Given the description of an element on the screen output the (x, y) to click on. 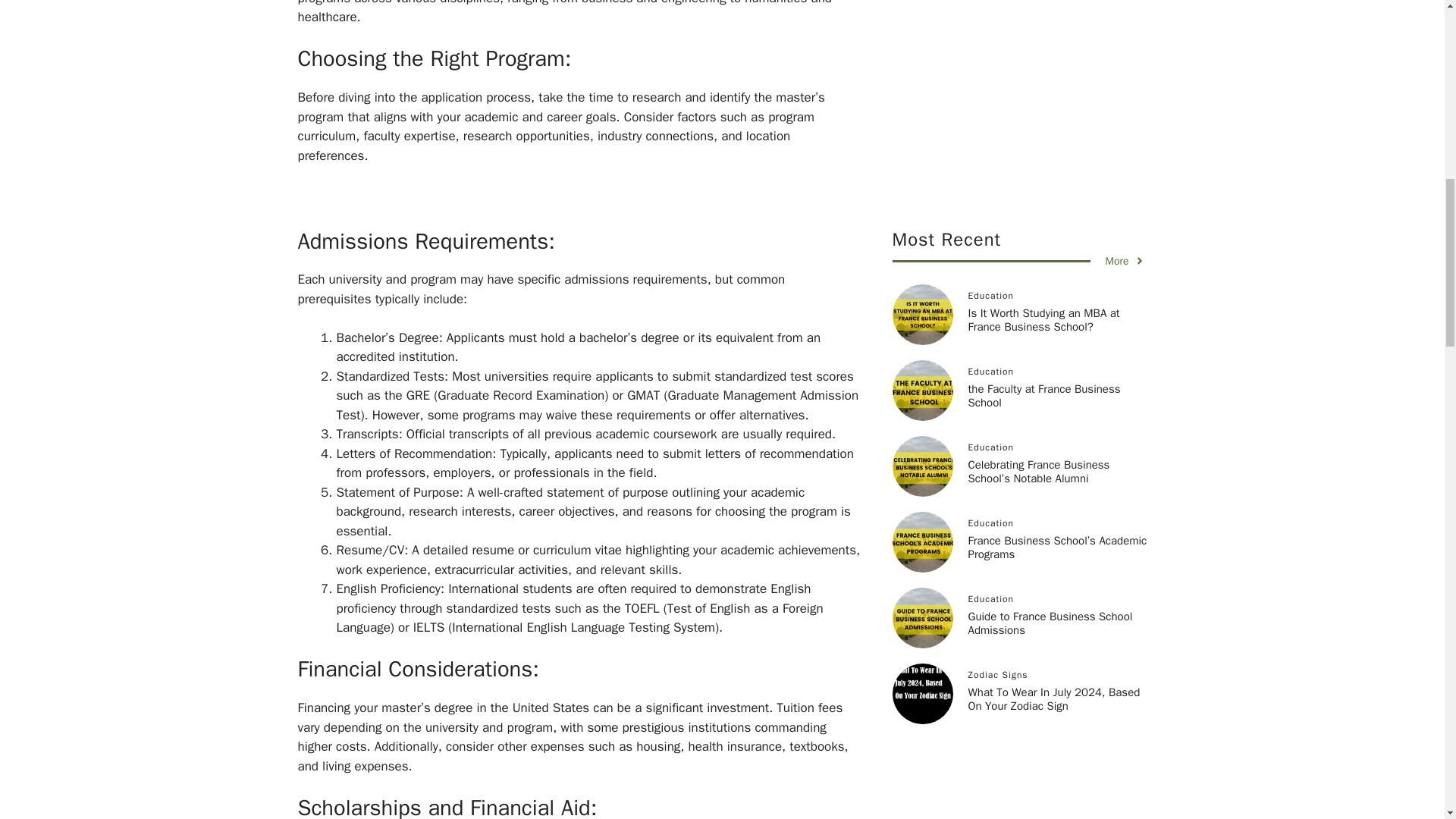
What To Wear In July 2024, Based On Your Zodiac Sign (1054, 336)
the Faculty at France Business School (1043, 32)
Guide to France Business School Admissions (1050, 260)
Scroll back to top (1406, 720)
